Given the description of an element on the screen output the (x, y) to click on. 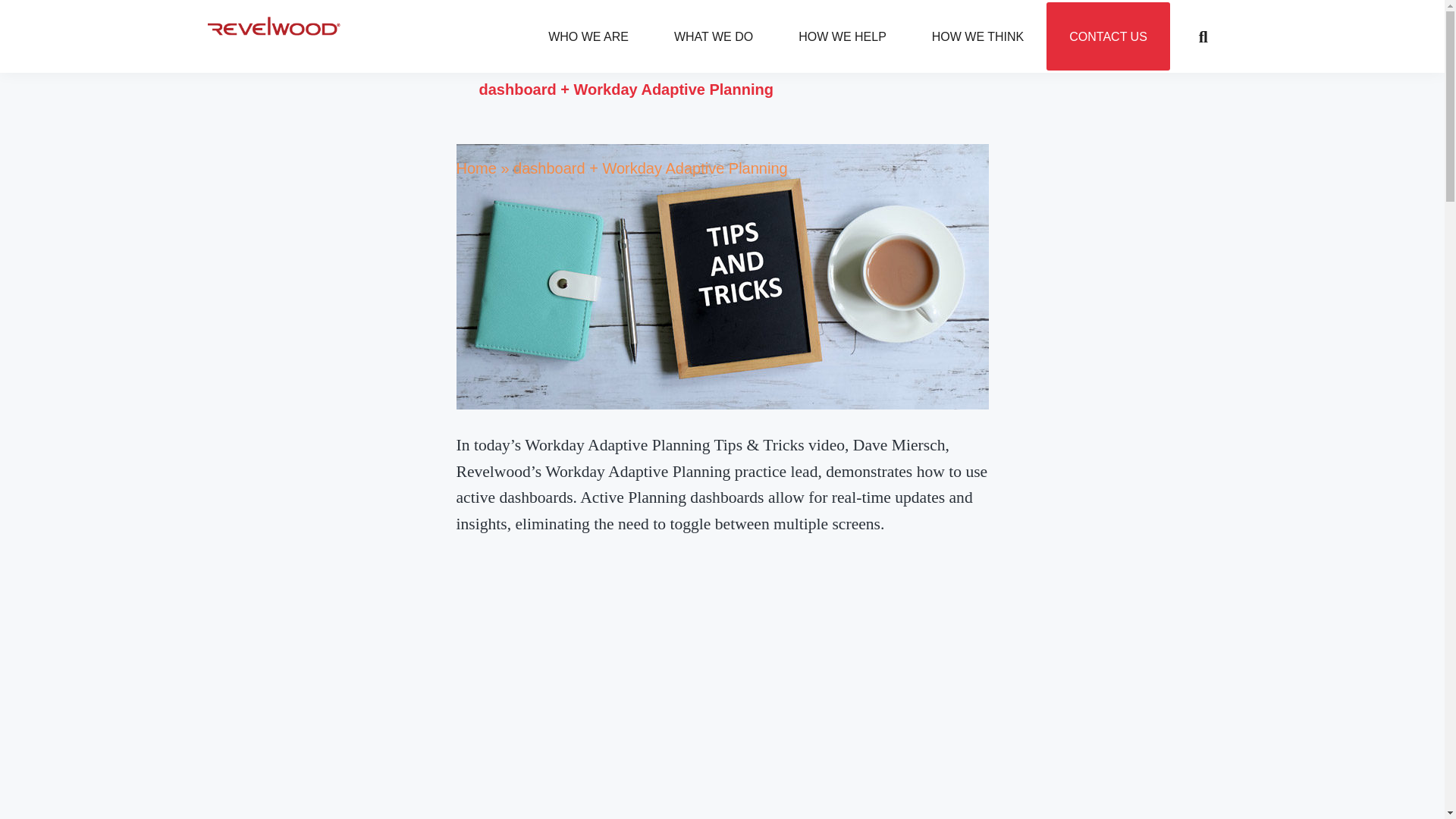
WHAT WE DO (880, 36)
Skip to main content (713, 36)
YouTube player (1108, 36)
WHO WE ARE (842, 36)
HOW WE THINK (587, 36)
